Given the description of an element on the screen output the (x, y) to click on. 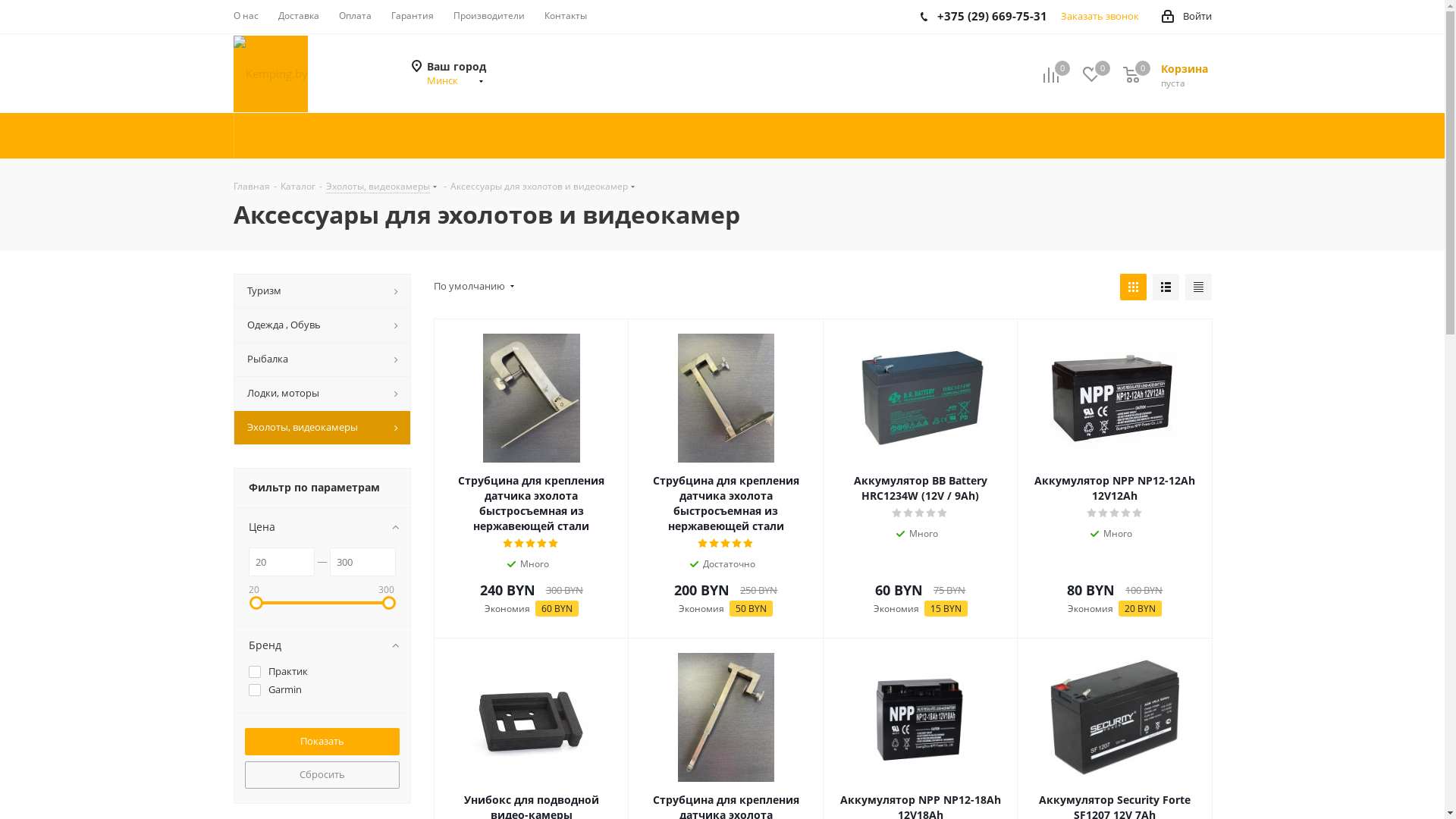
5 Element type: hover (1137, 513)
2 Element type: hover (519, 543)
Kemping.by Element type: hover (270, 72)
2 Element type: hover (714, 543)
5 Element type: hover (748, 543)
3 Element type: hover (1114, 513)
1 Element type: hover (1092, 513)
5 Element type: hover (553, 543)
3 Element type: hover (530, 543)
5 Element type: hover (942, 513)
1 Element type: hover (897, 513)
4 Element type: hover (737, 543)
1 Element type: hover (508, 543)
3 Element type: hover (725, 543)
2 Element type: hover (1103, 513)
3 Element type: hover (919, 513)
Y Element type: text (4, 4)
4 Element type: hover (1126, 513)
2 Element type: hover (908, 513)
4 Element type: hover (931, 513)
1 Element type: hover (703, 543)
4 Element type: hover (542, 543)
